Given the description of an element on the screen output the (x, y) to click on. 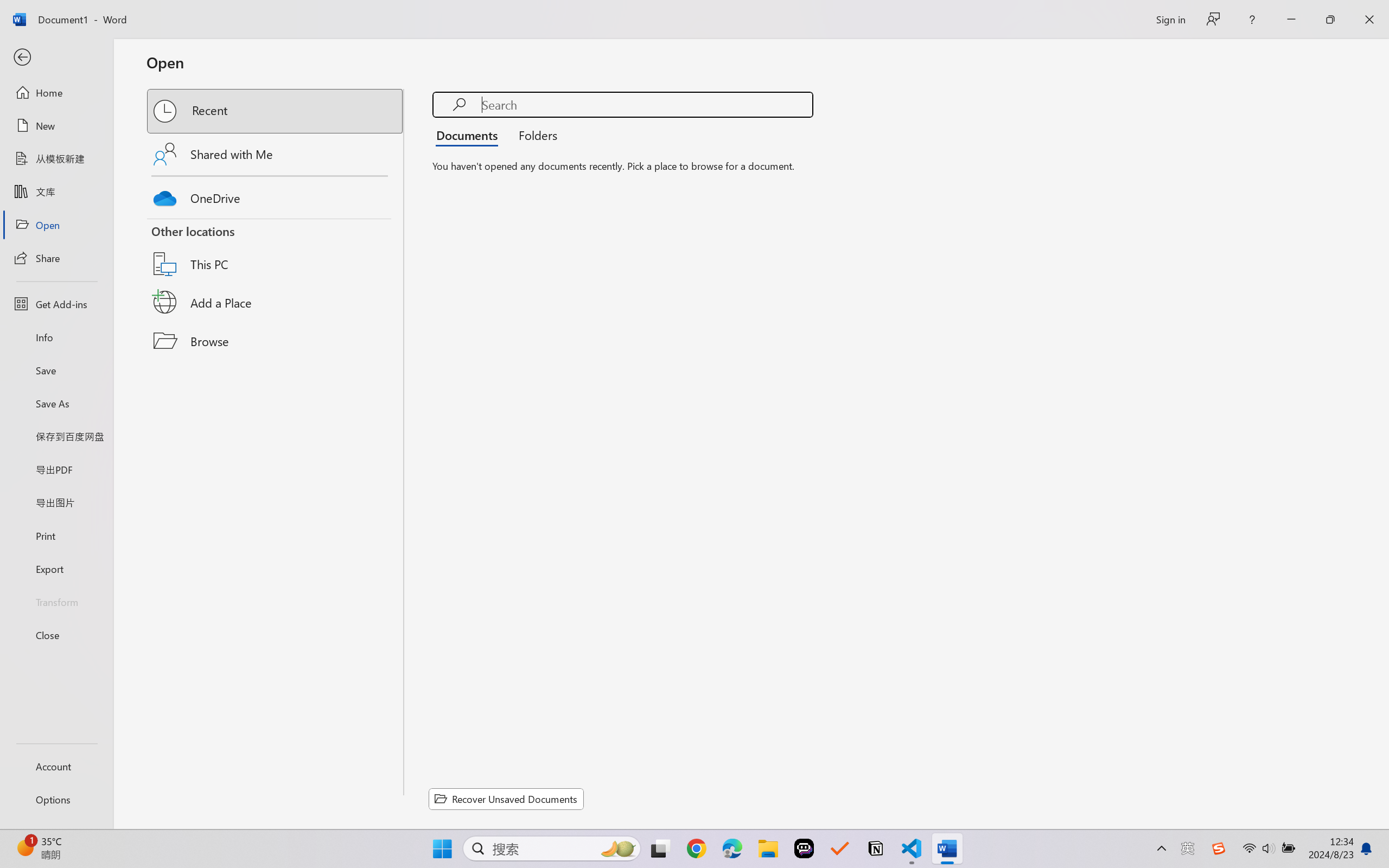
Folders (534, 134)
Recover Unsaved Documents (506, 798)
Print (56, 535)
Export (56, 568)
Options (56, 798)
